Given the description of an element on the screen output the (x, y) to click on. 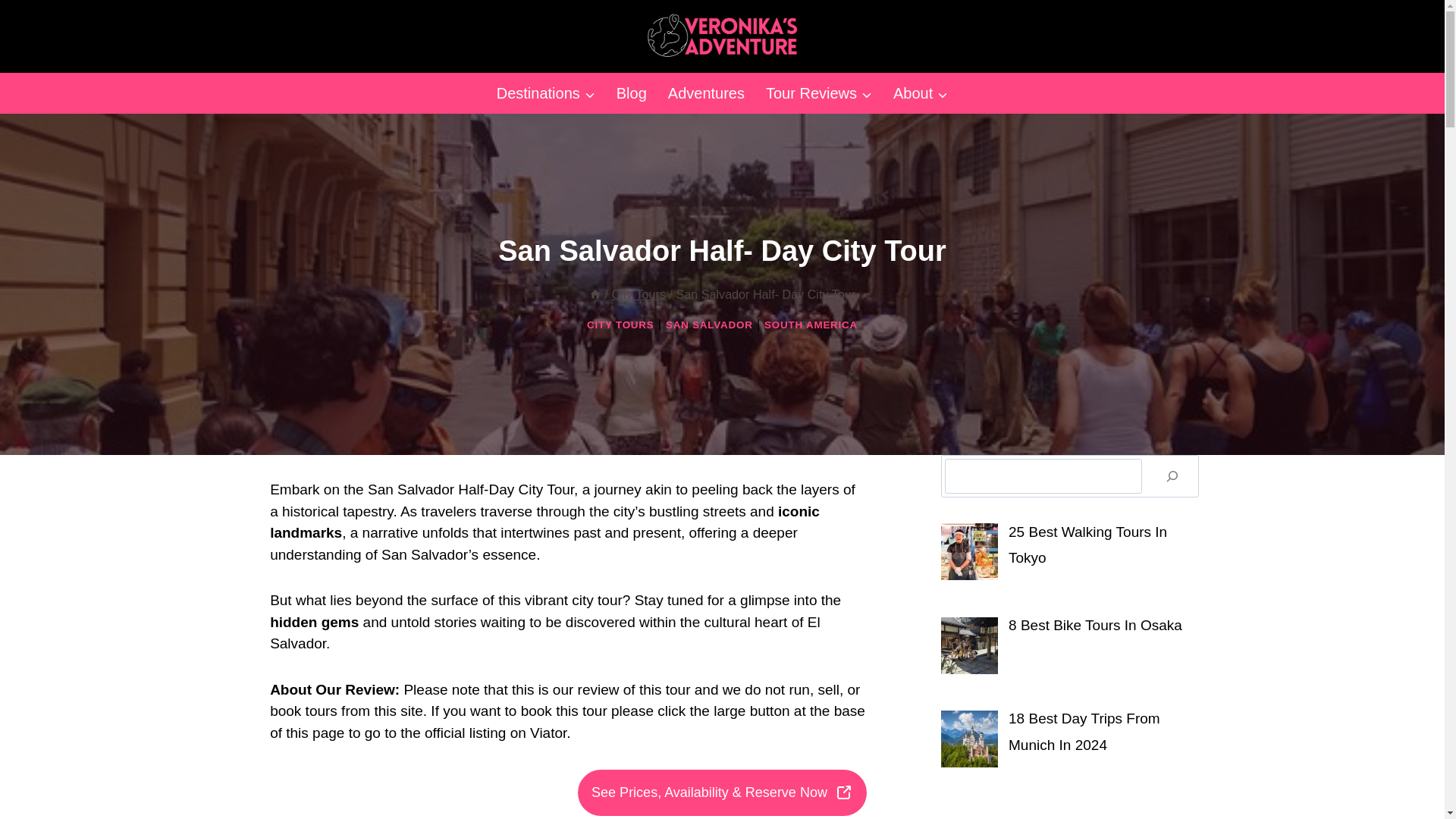
Blog (631, 92)
Destinations (545, 92)
City Tours (638, 294)
Tour Reviews (818, 92)
CITY TOURS (619, 324)
SOUTH AMERICA (810, 324)
About (920, 92)
SAN SALVADOR (708, 324)
Adventures (706, 92)
Home (595, 294)
